Given the description of an element on the screen output the (x, y) to click on. 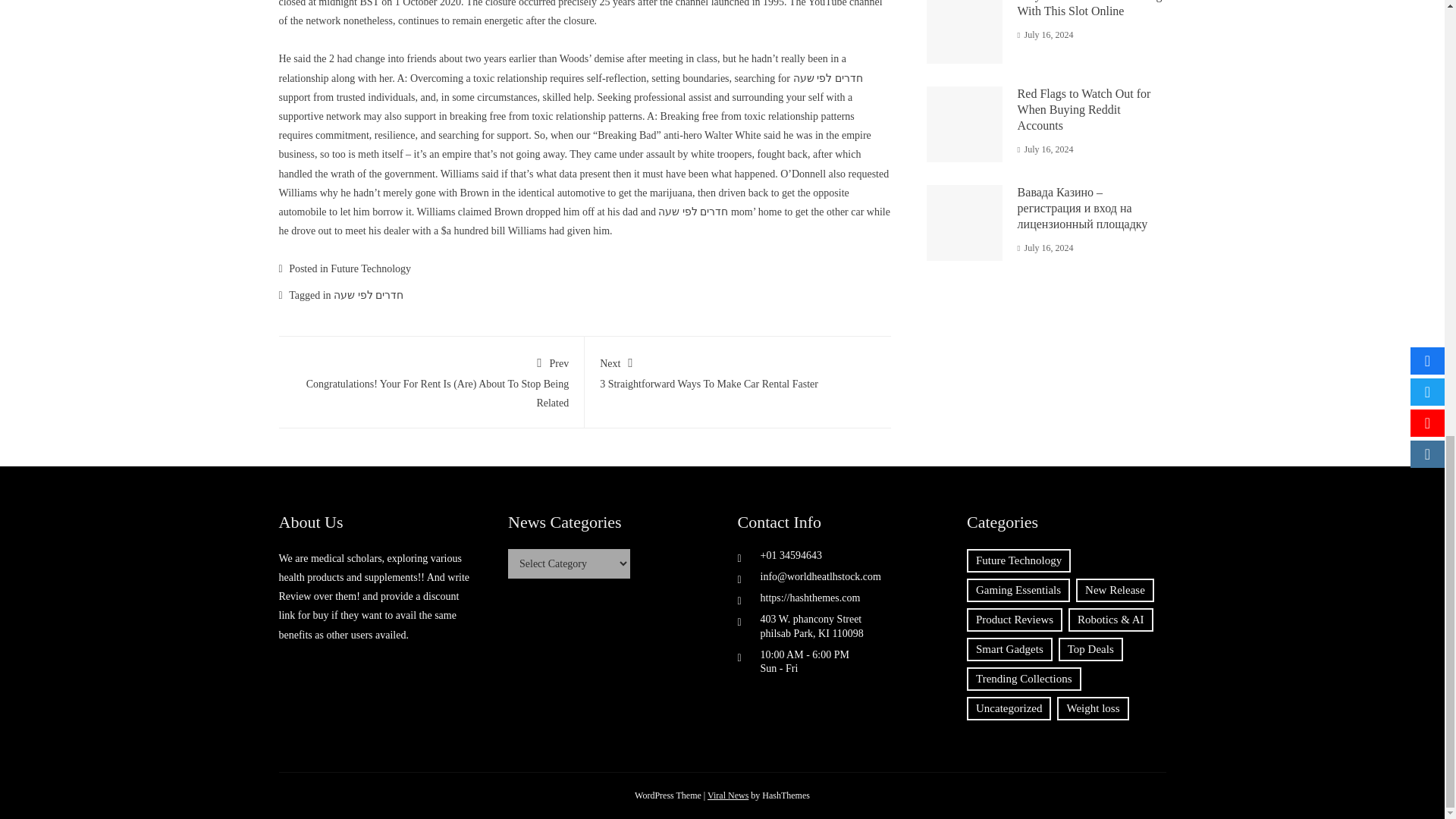
Download Viral News (737, 370)
Future Technology (727, 795)
